Given the description of an element on the screen output the (x, y) to click on. 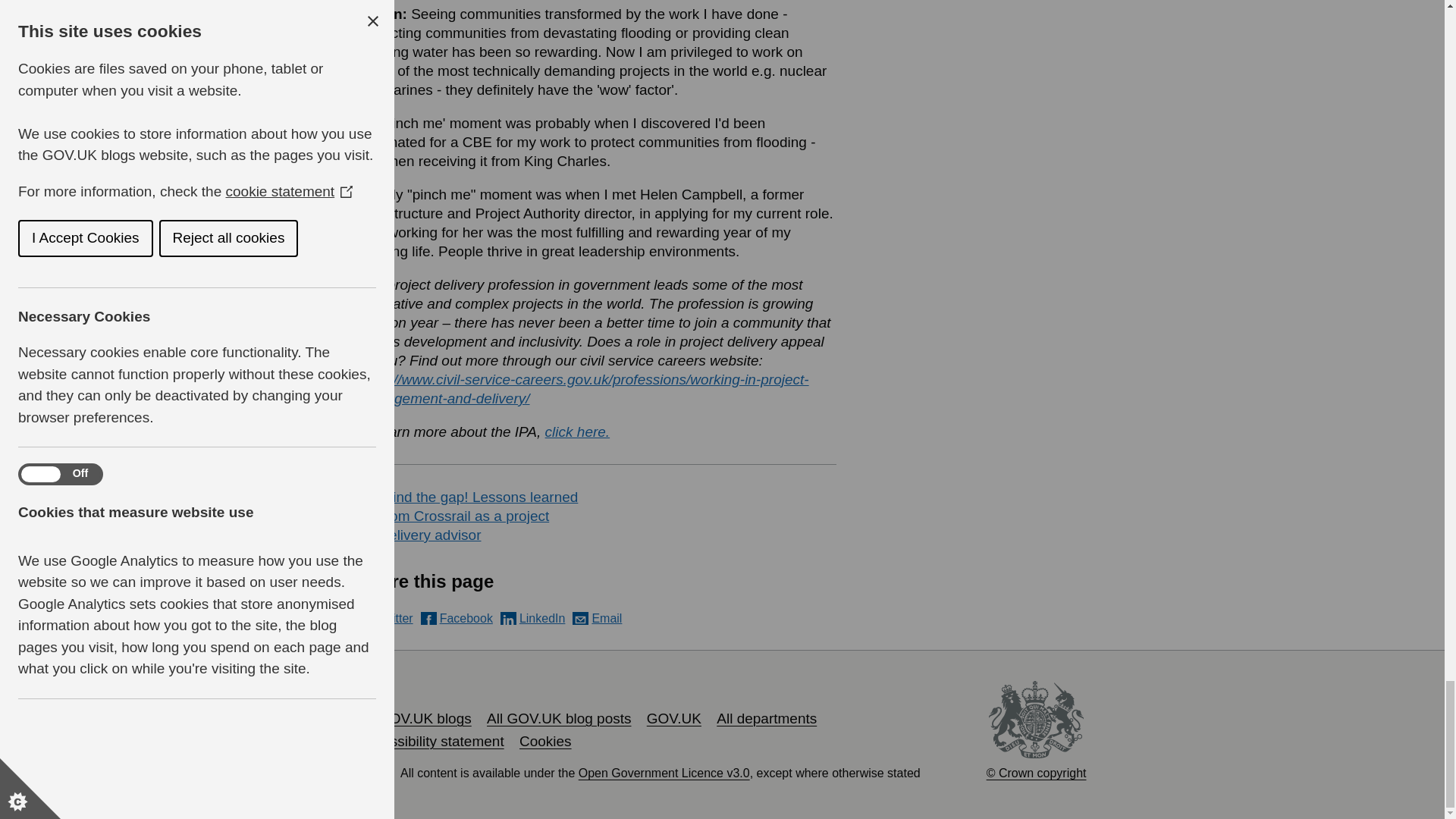
click here. (577, 431)
Email (596, 617)
Facebook (456, 617)
LinkedIn (533, 617)
Twitter (385, 617)
